Given the description of an element on the screen output the (x, y) to click on. 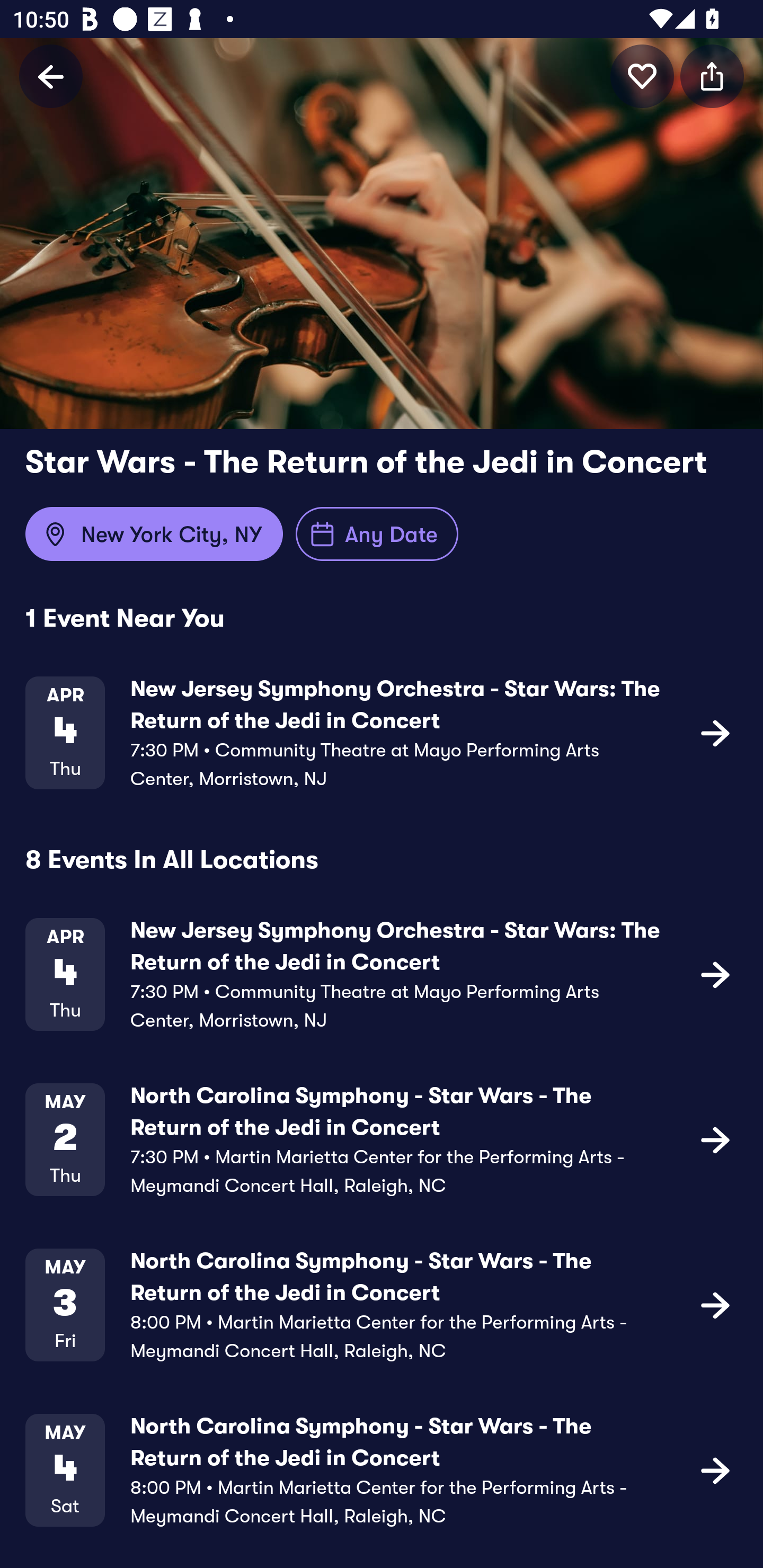
Back (50, 75)
icon button (641, 75)
icon button (711, 75)
New York City, NY (153, 533)
Any Date (377, 533)
icon button (714, 732)
icon button (714, 973)
icon button (714, 1138)
icon button (714, 1304)
icon button (714, 1469)
